Given the description of an element on the screen output the (x, y) to click on. 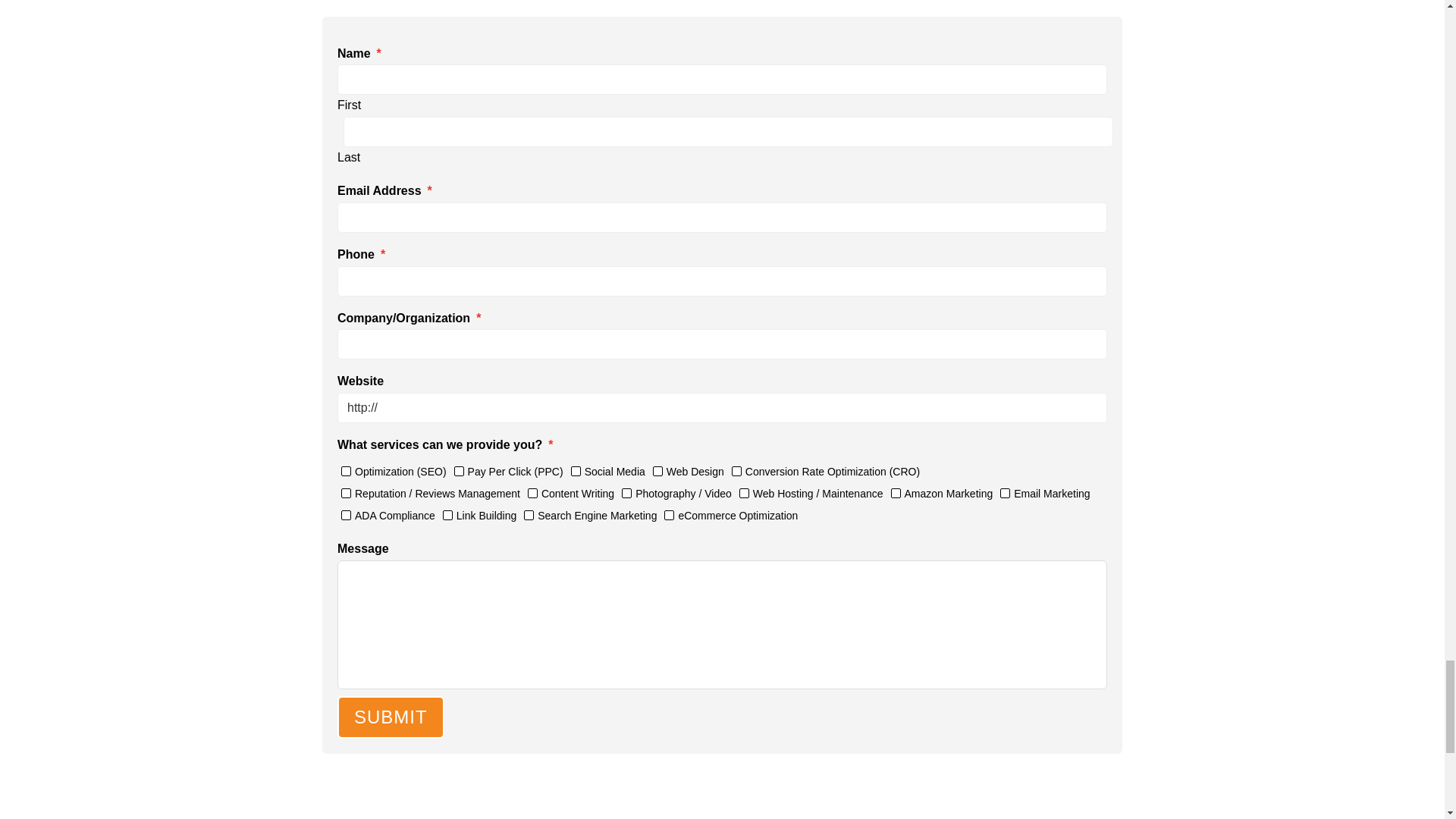
Submit (390, 717)
